Given the description of an element on the screen output the (x, y) to click on. 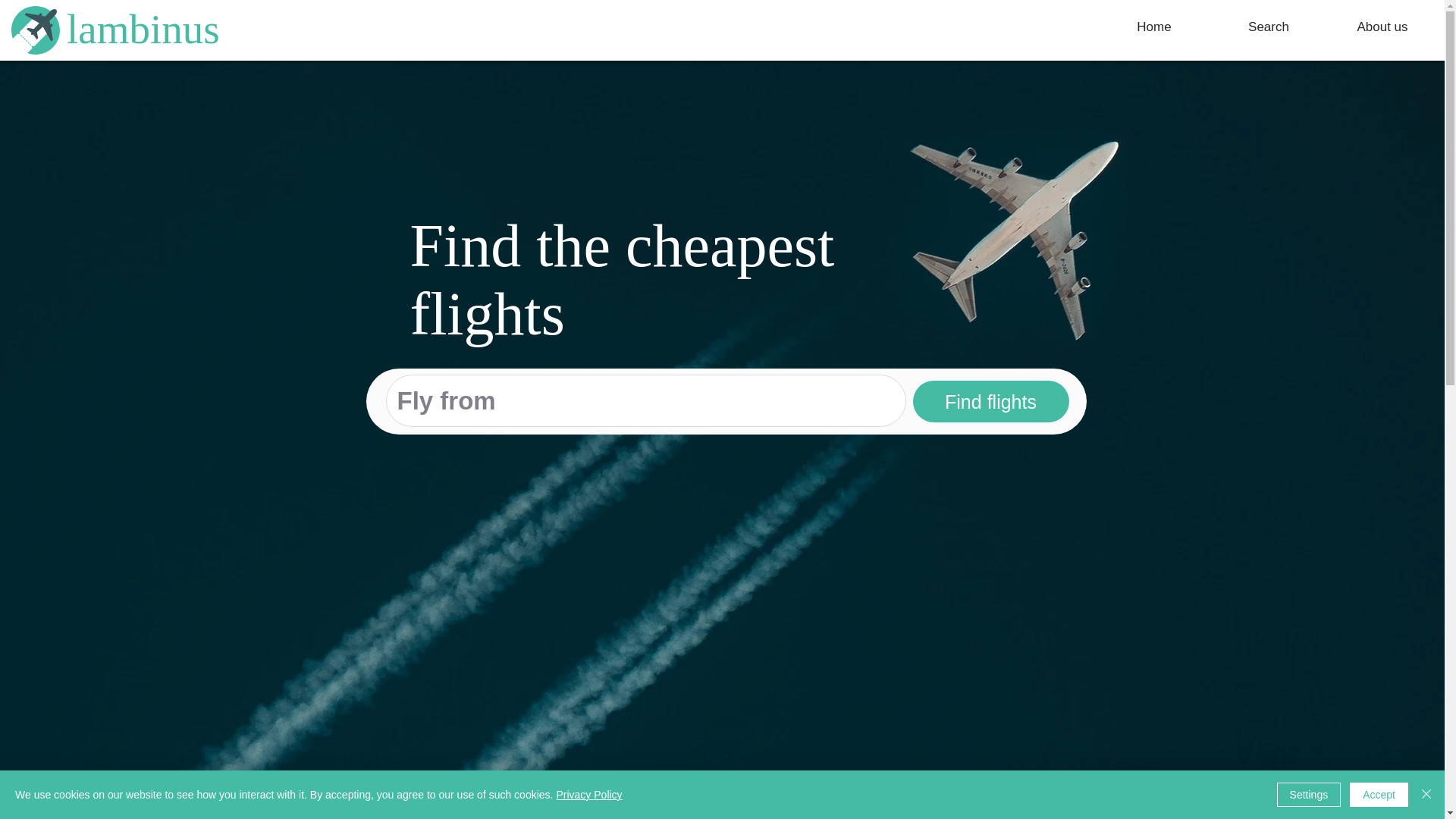
Privacy Policy (588, 794)
Settings (1308, 794)
Find flights (990, 401)
About us (1381, 27)
Accept (1378, 794)
Search (1267, 27)
Home (1154, 27)
